Given the description of an element on the screen output the (x, y) to click on. 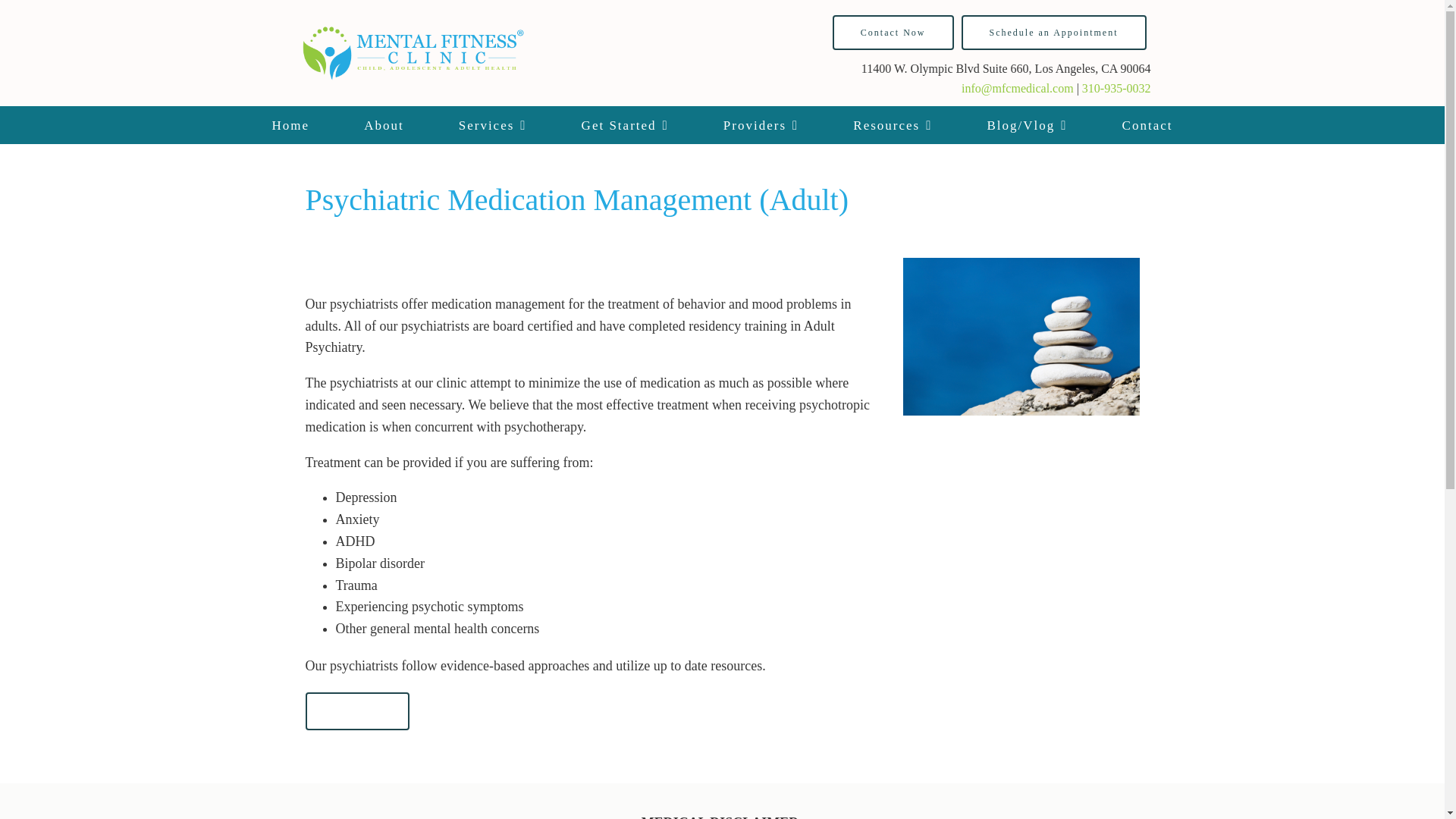
Home (290, 125)
Services (492, 125)
Get Started (624, 125)
Providers (760, 125)
About (383, 125)
